Given the description of an element on the screen output the (x, y) to click on. 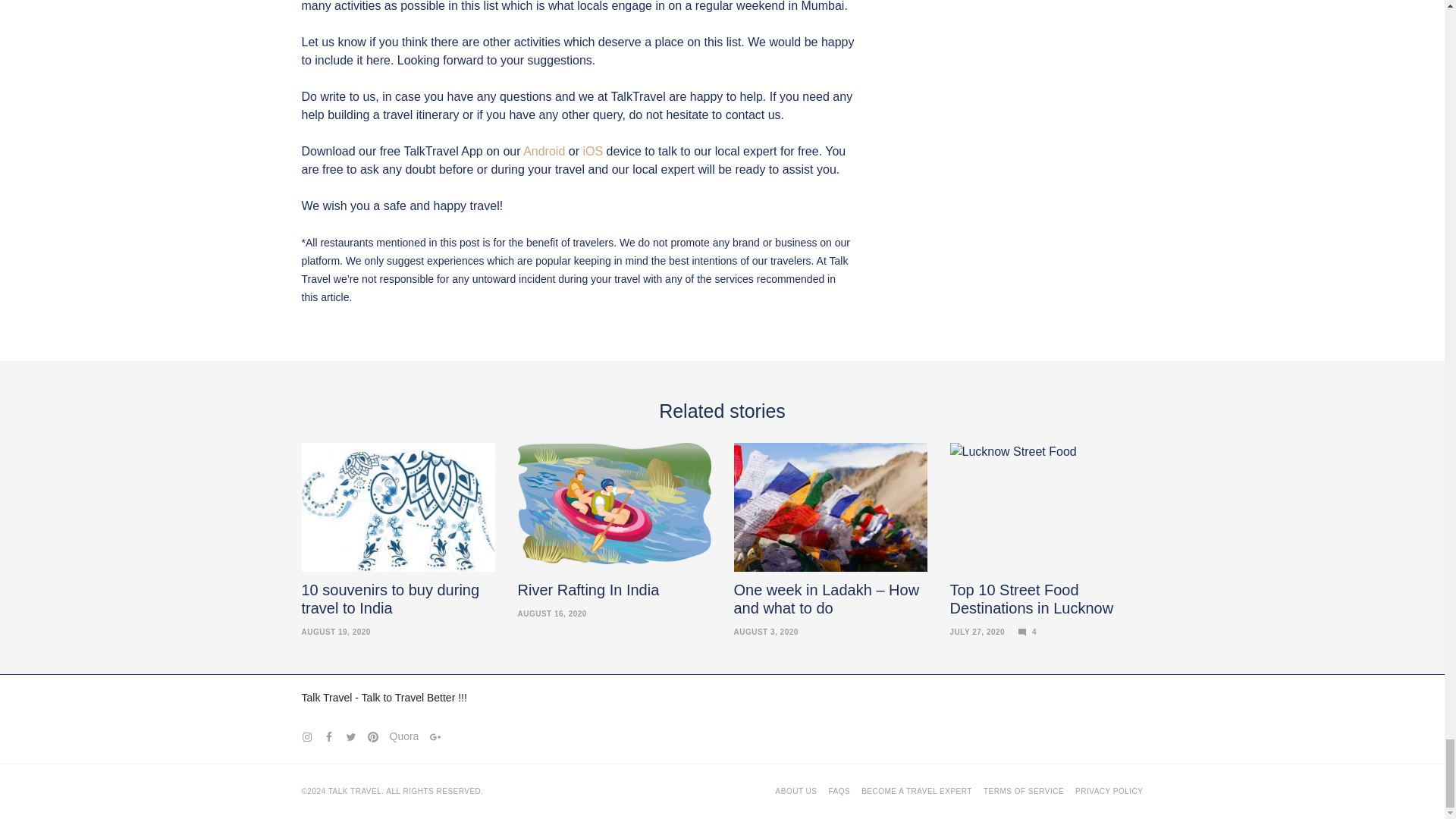
Published on August 16, 2020 (551, 613)
Published on August 19, 2020 (336, 632)
Published on August 3, 2020; Last updated on August 13, 2020 (765, 632)
Published on July 27, 2020; Last updated on April 2, 2021 (976, 632)
